Given the description of an element on the screen output the (x, y) to click on. 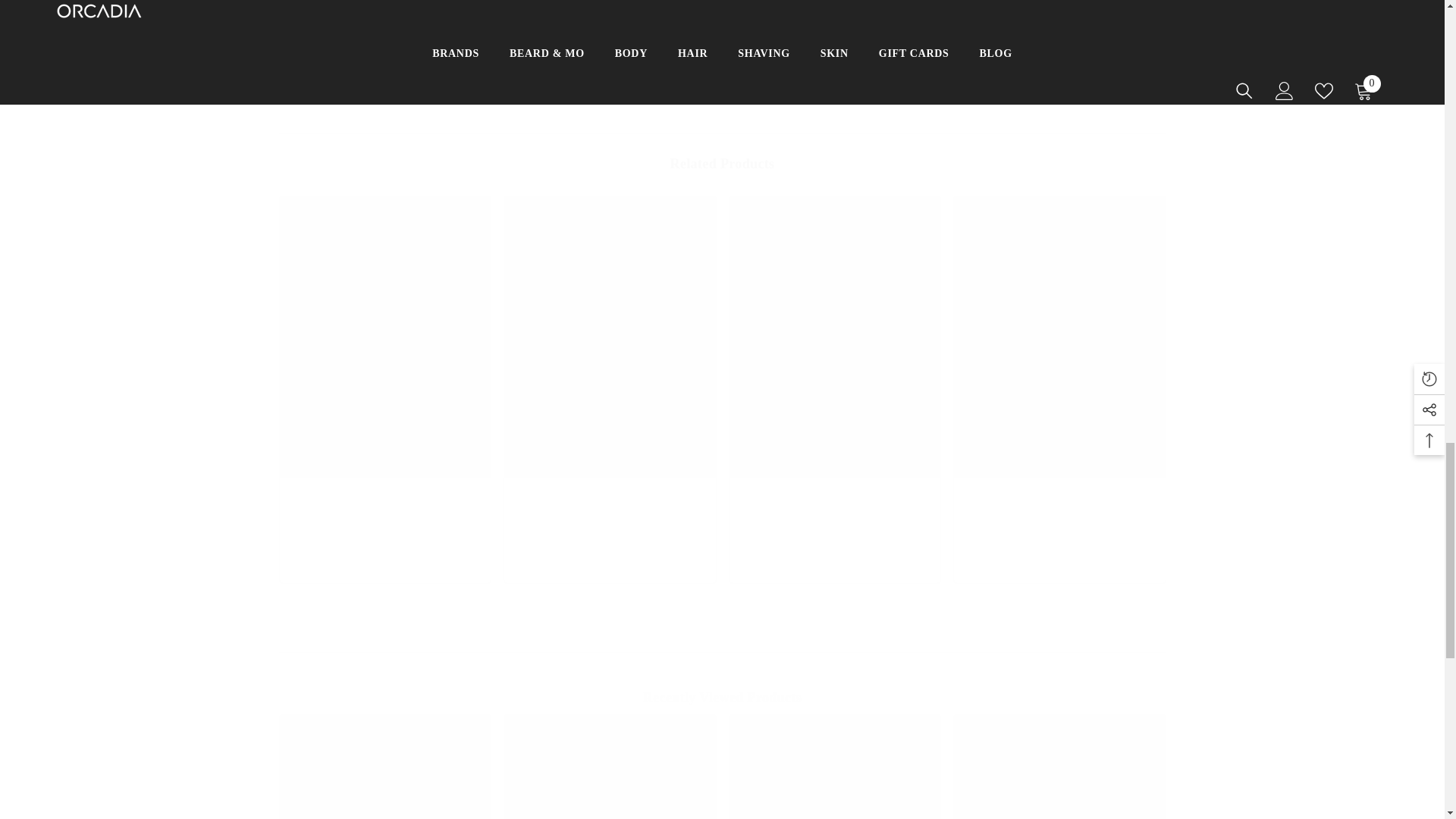
Recently Viewed Products (722, 697)
